Given the description of an element on the screen output the (x, y) to click on. 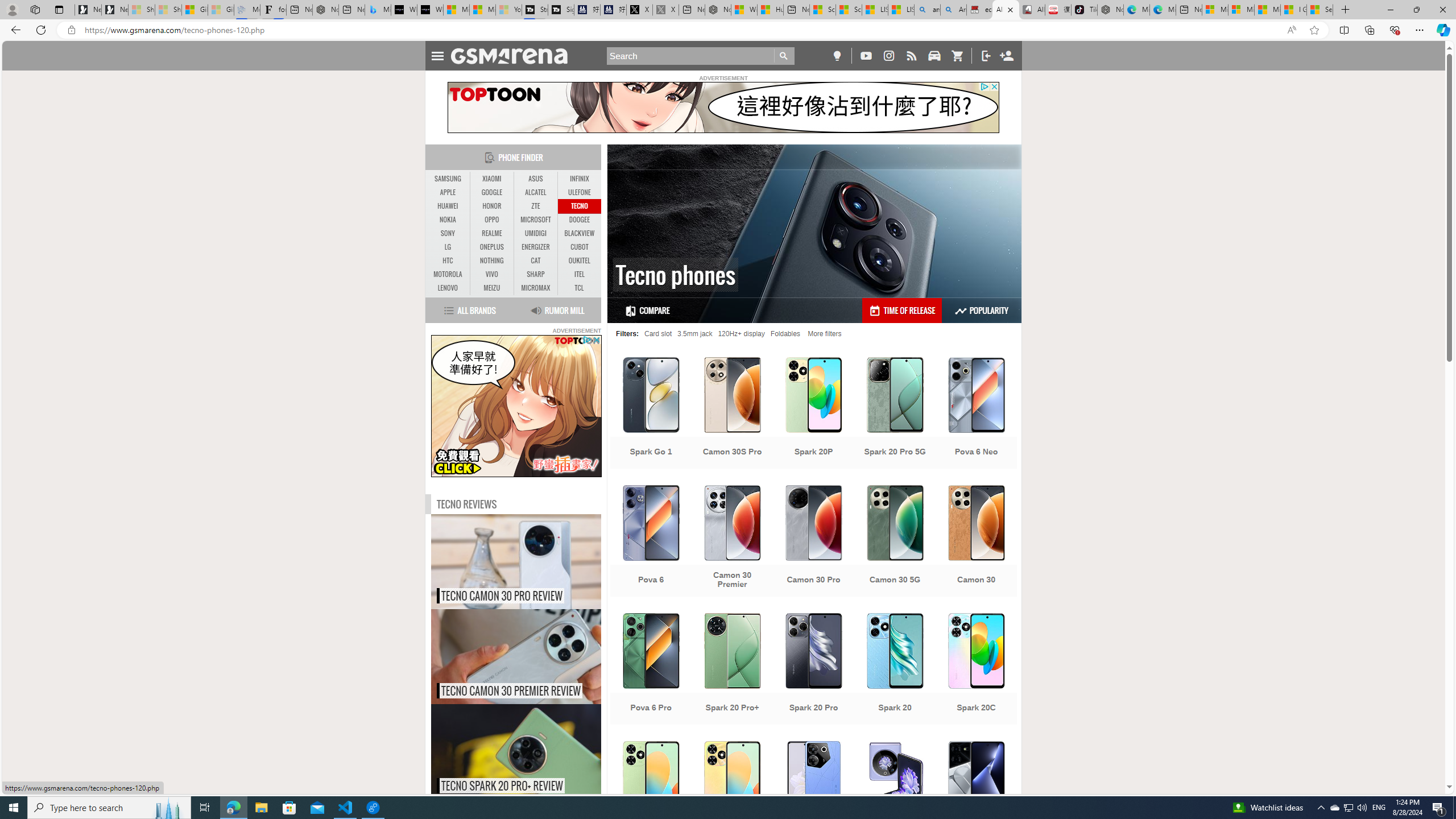
View site information (70, 29)
OUKITEL (579, 260)
X - Sleeping (665, 9)
Camon 30 Premier (732, 542)
Refresh (40, 29)
MICROSOFT (535, 219)
TCL (579, 287)
Minimize (1390, 9)
ITEL (579, 273)
VIVO (491, 273)
NOKIA (448, 219)
Browser essentials (1394, 29)
